Given the description of an element on the screen output the (x, y) to click on. 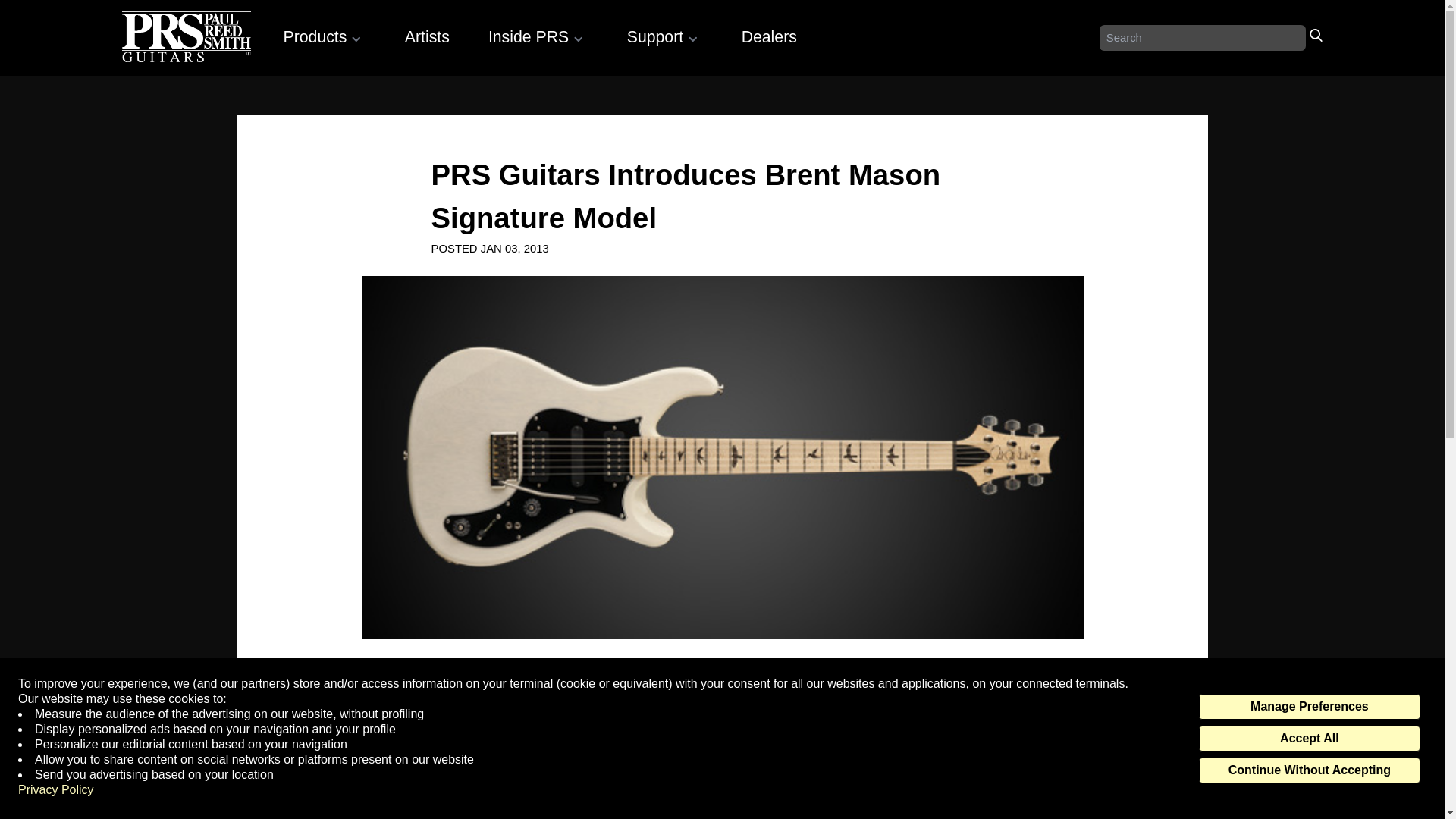
Accept All (1309, 738)
Privacy Policy (55, 789)
Manage Preferences (1309, 706)
Continue Without Accepting (1309, 769)
Products (324, 36)
